Given the description of an element on the screen output the (x, y) to click on. 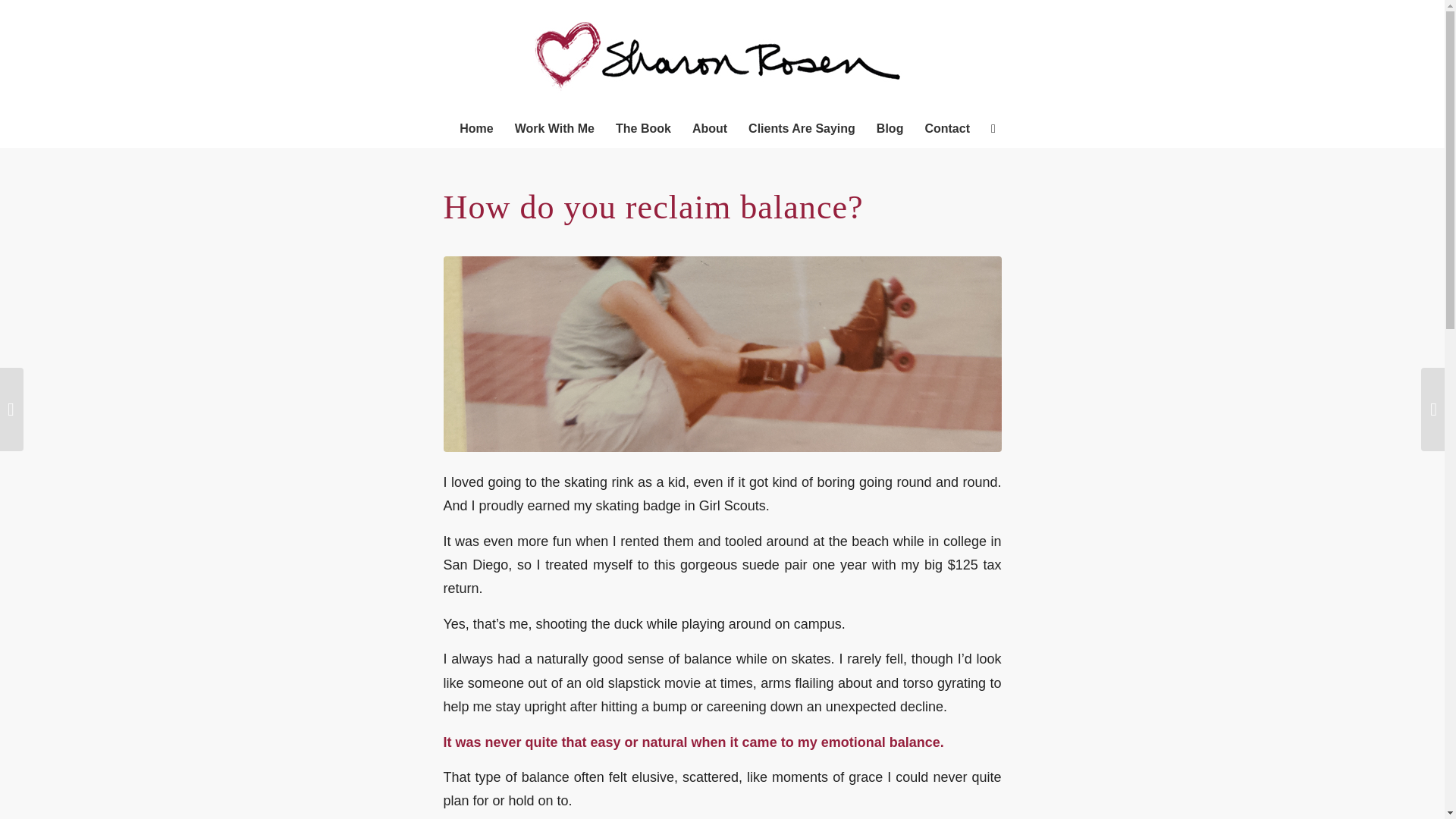
Blog (890, 128)
How do you reclaim balance? (721, 353)
Work With Me (554, 128)
Contact (946, 128)
The Book (643, 128)
Home (475, 128)
How do you reclaim balance? (652, 207)
About (709, 128)
Permanent Link: How do you reclaim balance? (652, 207)
Clients Are Saying (802, 128)
